Given the description of an element on the screen output the (x, y) to click on. 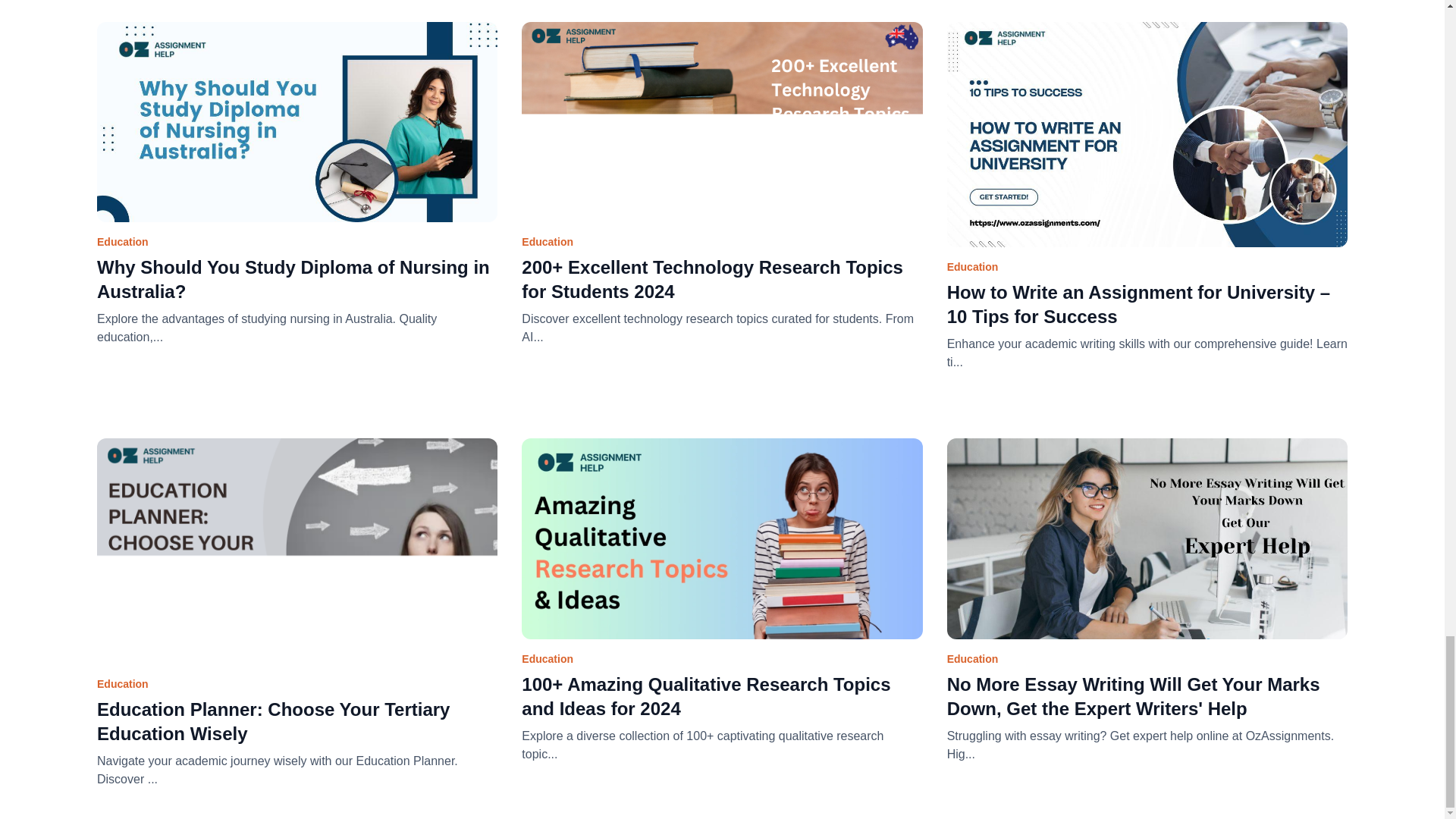
Education (721, 135)
Why Should You Study Diploma of Nursing in Australia? (297, 276)
Education (297, 564)
Education (1147, 148)
Education (297, 135)
Education Planner: Choose Your Tertiary Education Wisely (297, 718)
Education (721, 551)
Education (1147, 551)
